Given the description of an element on the screen output the (x, y) to click on. 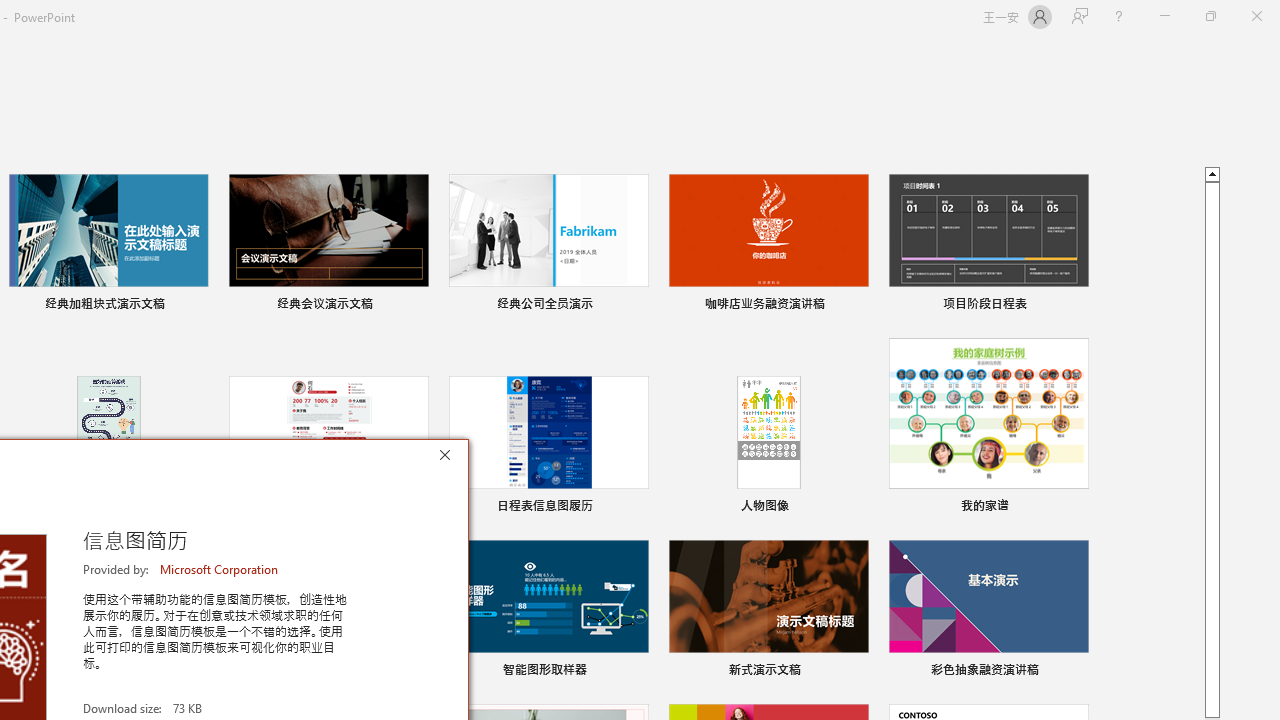
Line up (1212, 173)
Microsoft Corporation (220, 569)
Pin to list (1075, 671)
